Given the description of an element on the screen output the (x, y) to click on. 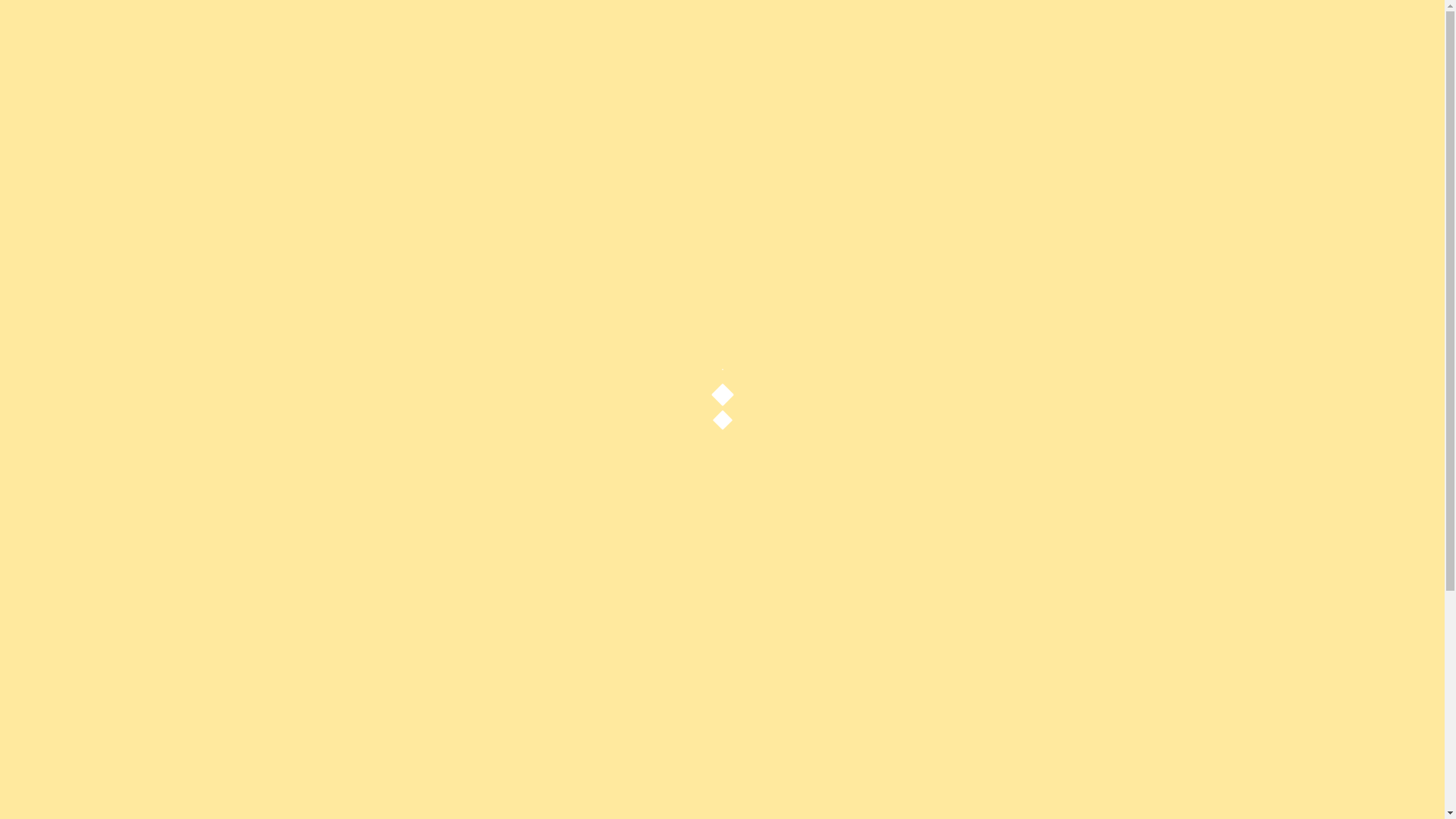
Events & Aktuelles Element type: text (1160, 36)
Shop 1842 Element type: text (657, 71)
Conditorei Element type: text (918, 71)
Torten & Co Element type: text (1017, 71)
Gutscheine & Shop Element type: text (1308, 71)
Kontakt Element type: text (1195, 71)
Freie Stellen Element type: text (1334, 36)
Essen, trinken & feiern Element type: text (787, 71)
Stiftung Element type: text (1255, 36)
